Given the description of an element on the screen output the (x, y) to click on. 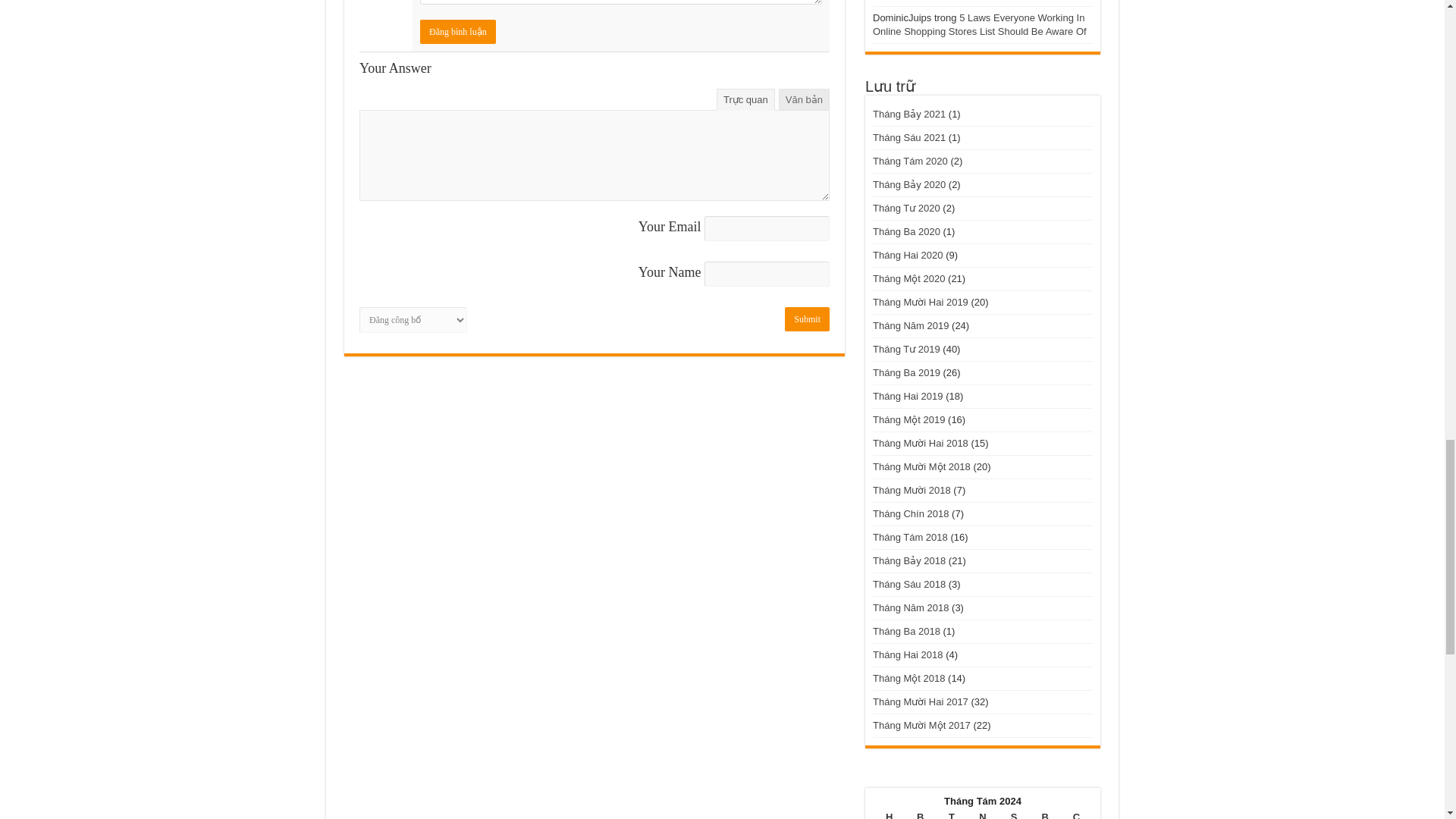
Submit (806, 318)
